Given the description of an element on the screen output the (x, y) to click on. 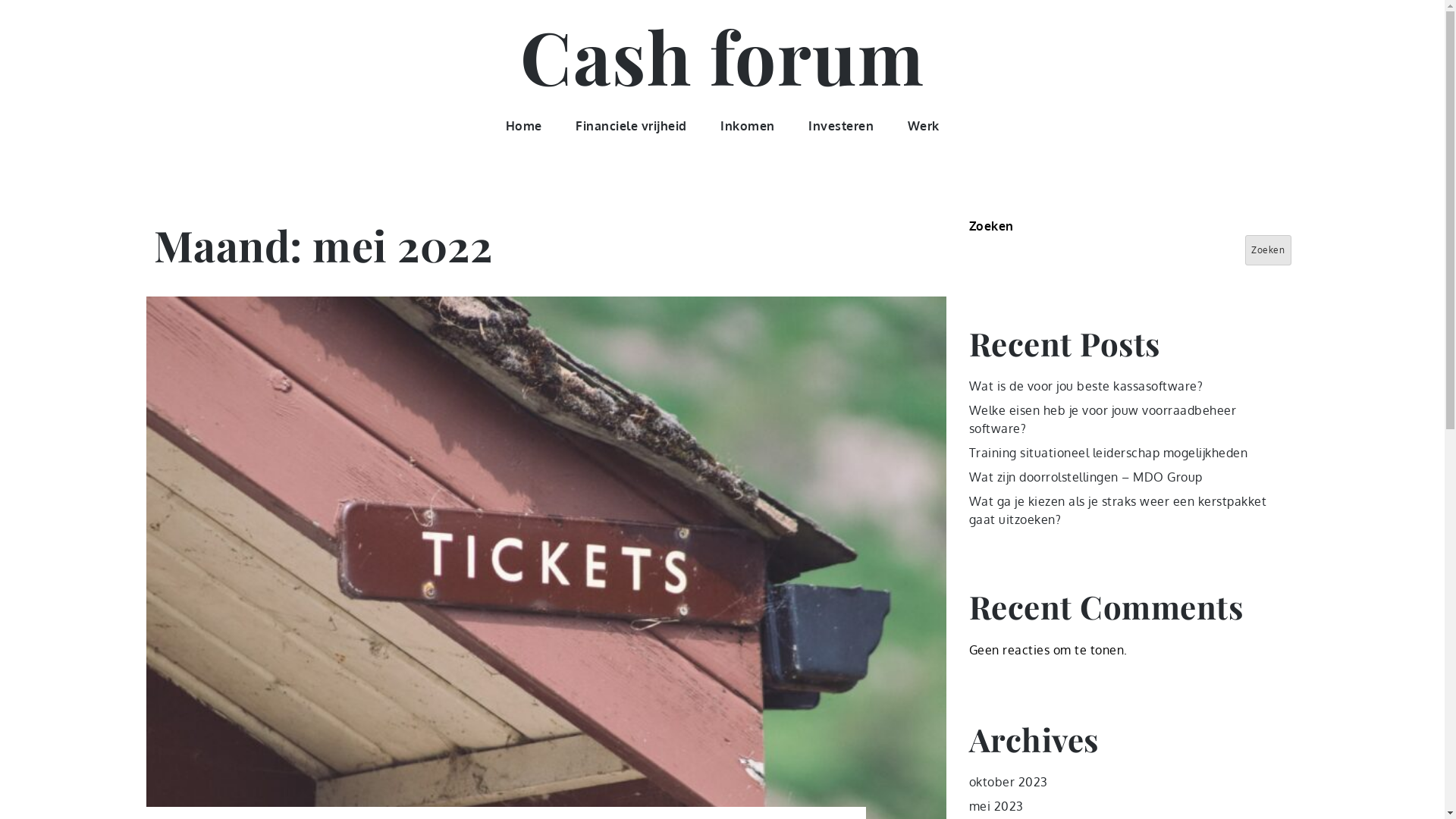
Financiele vrijheid Element type: text (631, 125)
Investeren Element type: text (840, 125)
Training situationeel leiderschap mogelijkheden Element type: text (1108, 452)
Zoeken Element type: text (1268, 250)
Werk Element type: text (922, 125)
Wat is de voor jou beste kassasoftware? Element type: text (1086, 385)
Inkomen Element type: text (747, 125)
Home Element type: text (522, 125)
Cash forum Element type: text (722, 54)
mei 2023 Element type: text (996, 805)
oktober 2023 Element type: text (1008, 781)
Welke eisen heb je voor jouw voorraadbeheer software? Element type: text (1102, 419)
